Given the description of an element on the screen output the (x, y) to click on. 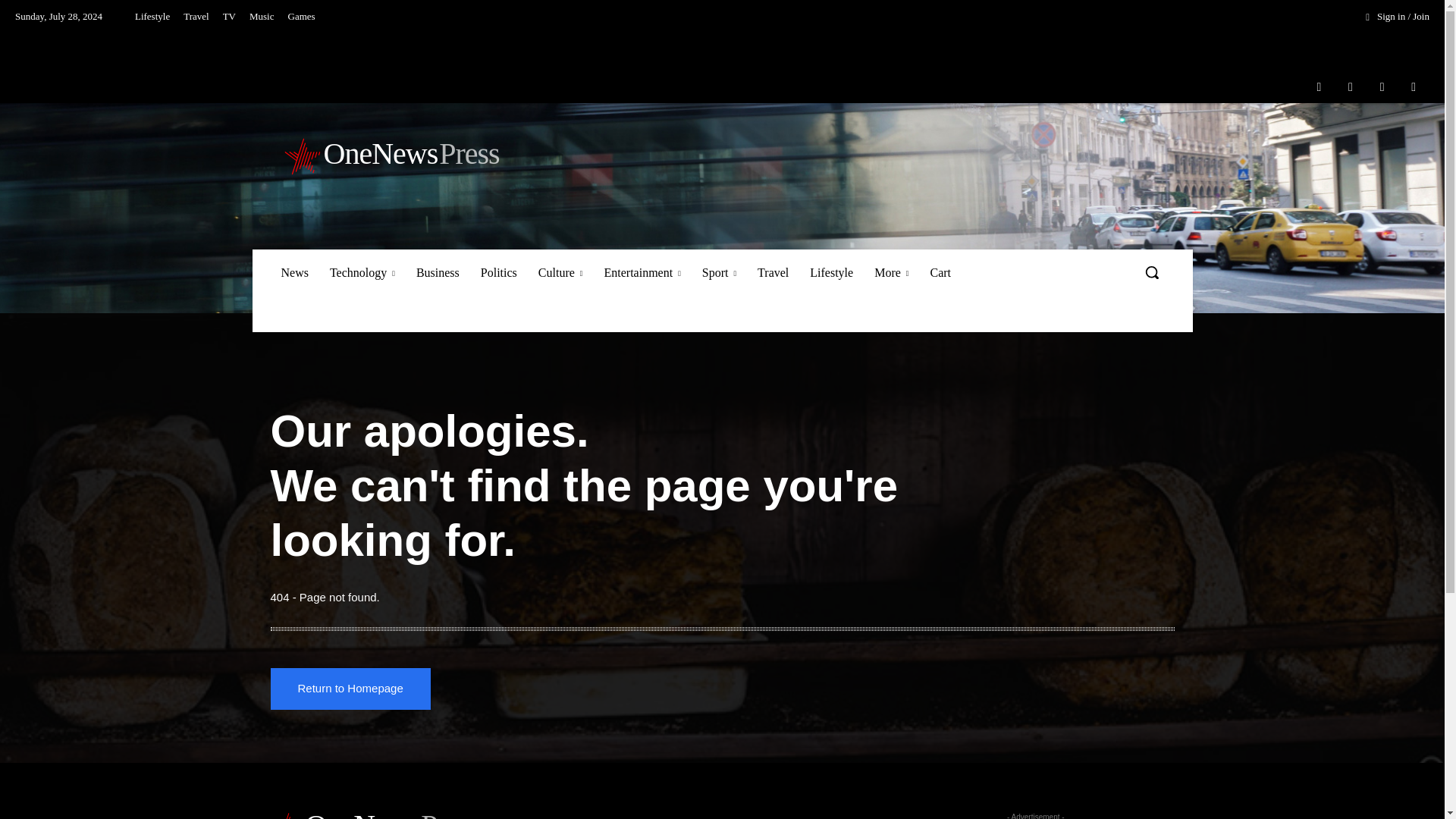
Twitter (1382, 87)
Lifestyle (152, 16)
Facebook (1319, 87)
TV (229, 16)
Youtube (1413, 87)
Music (262, 16)
Games (301, 16)
Instagram (1351, 87)
Travel (195, 16)
